Given the description of an element on the screen output the (x, y) to click on. 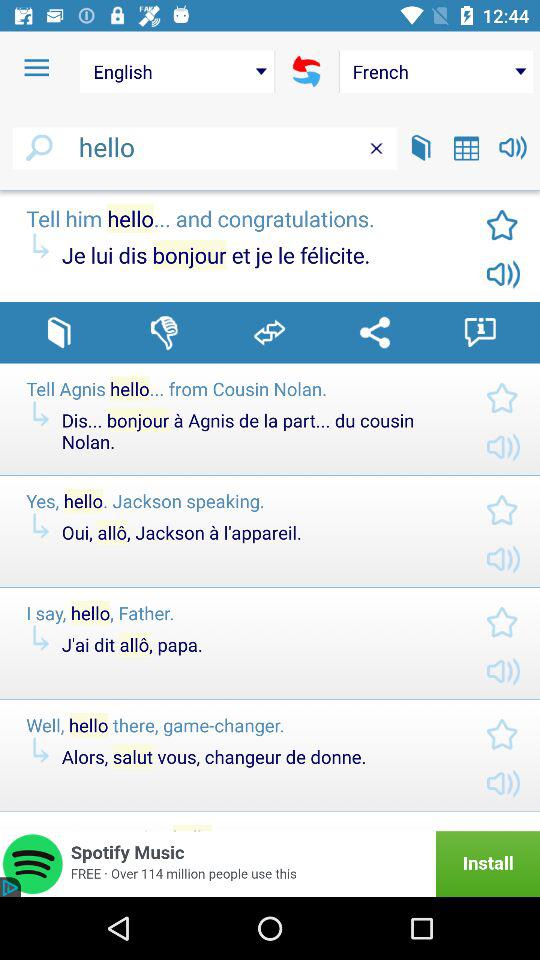
more information (480, 332)
